Given the description of an element on the screen output the (x, y) to click on. 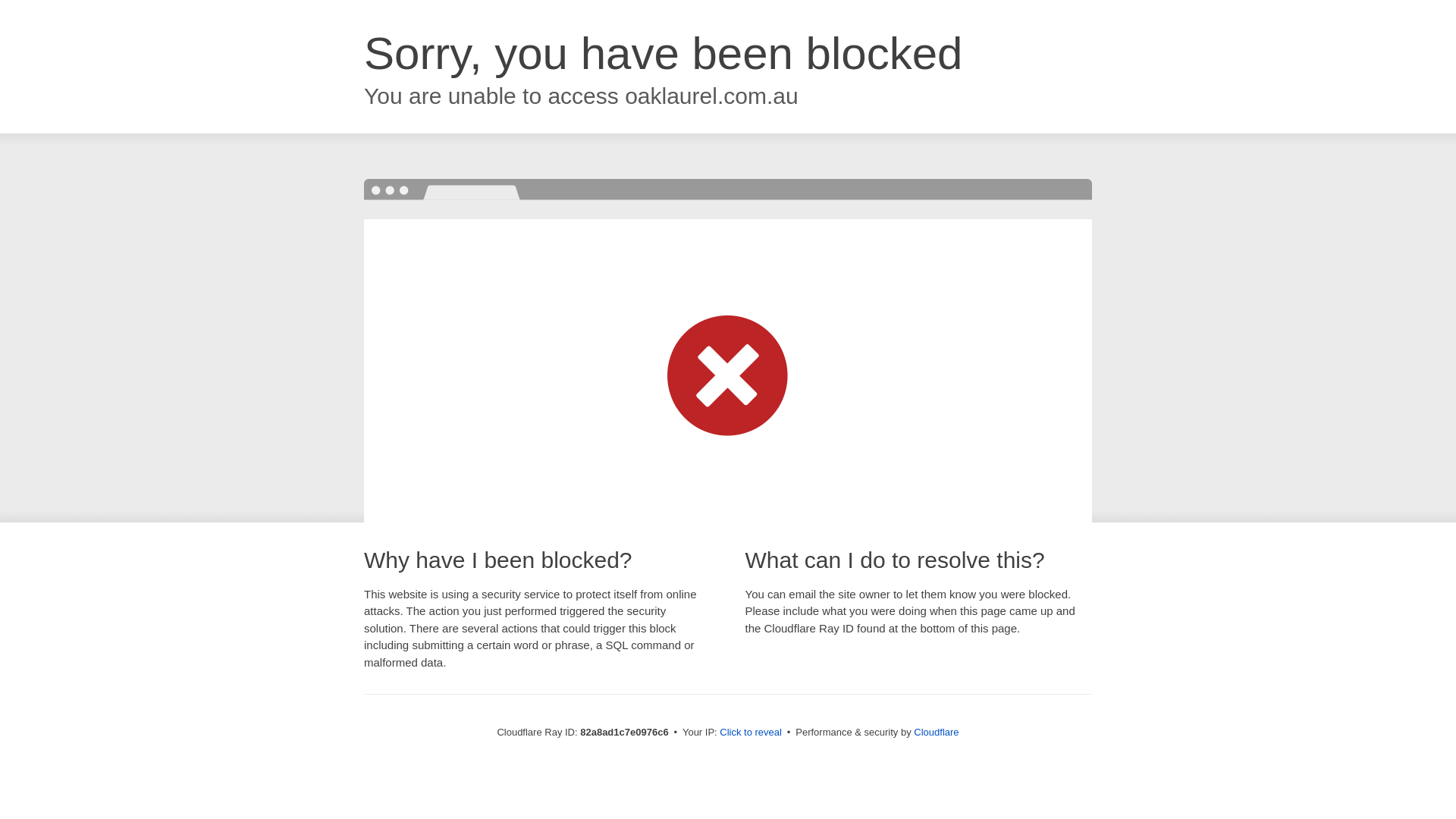
Cloudflare Element type: text (935, 731)
Click to reveal Element type: text (750, 732)
